Given the description of an element on the screen output the (x, y) to click on. 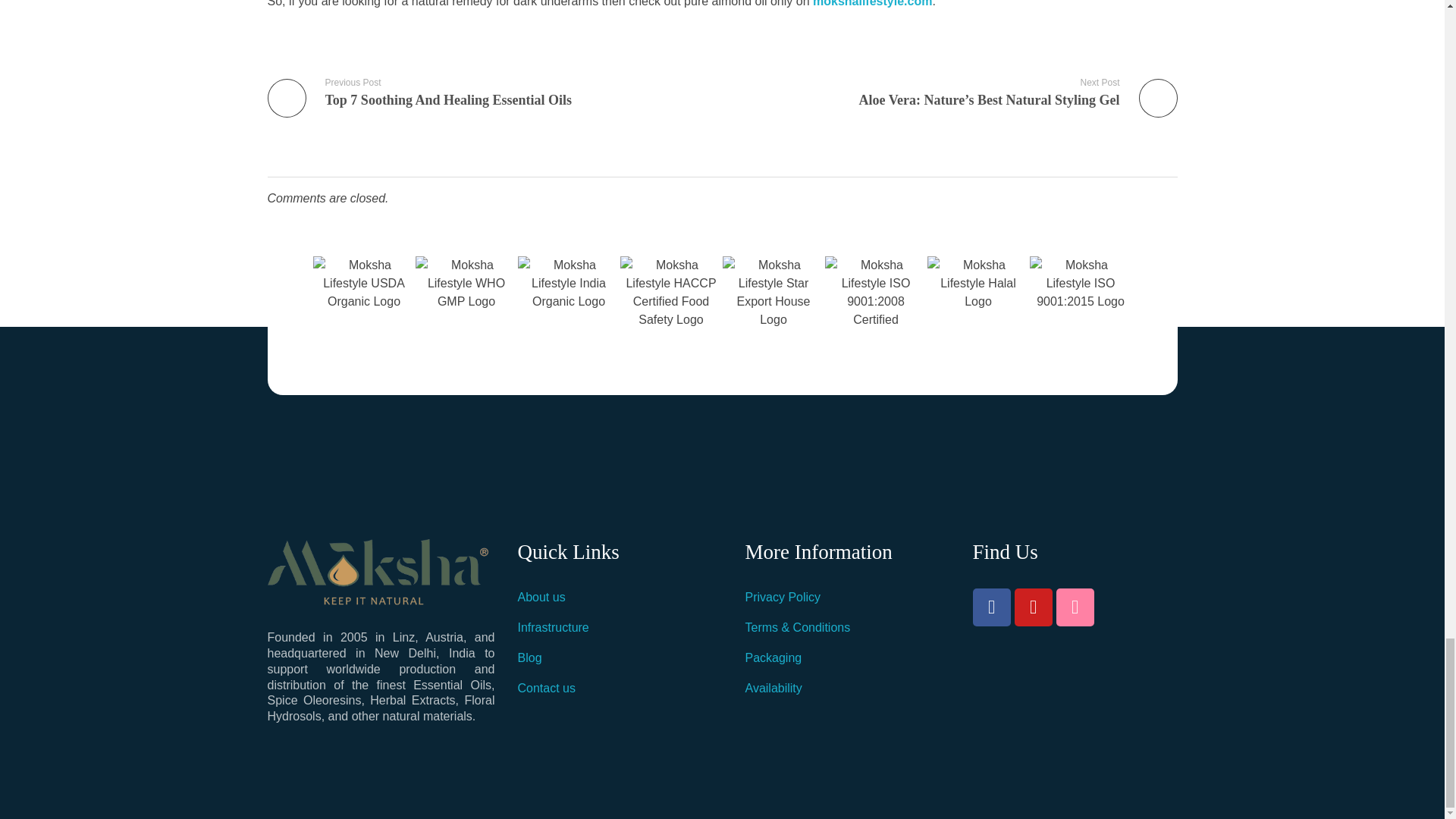
About us (540, 596)
Packaging (773, 657)
mokshalifestyle.com (871, 3)
Infrastructure (552, 626)
Blog (528, 657)
Contact us (488, 92)
Privacy Policy (545, 687)
Availability (782, 596)
